Given the description of an element on the screen output the (x, y) to click on. 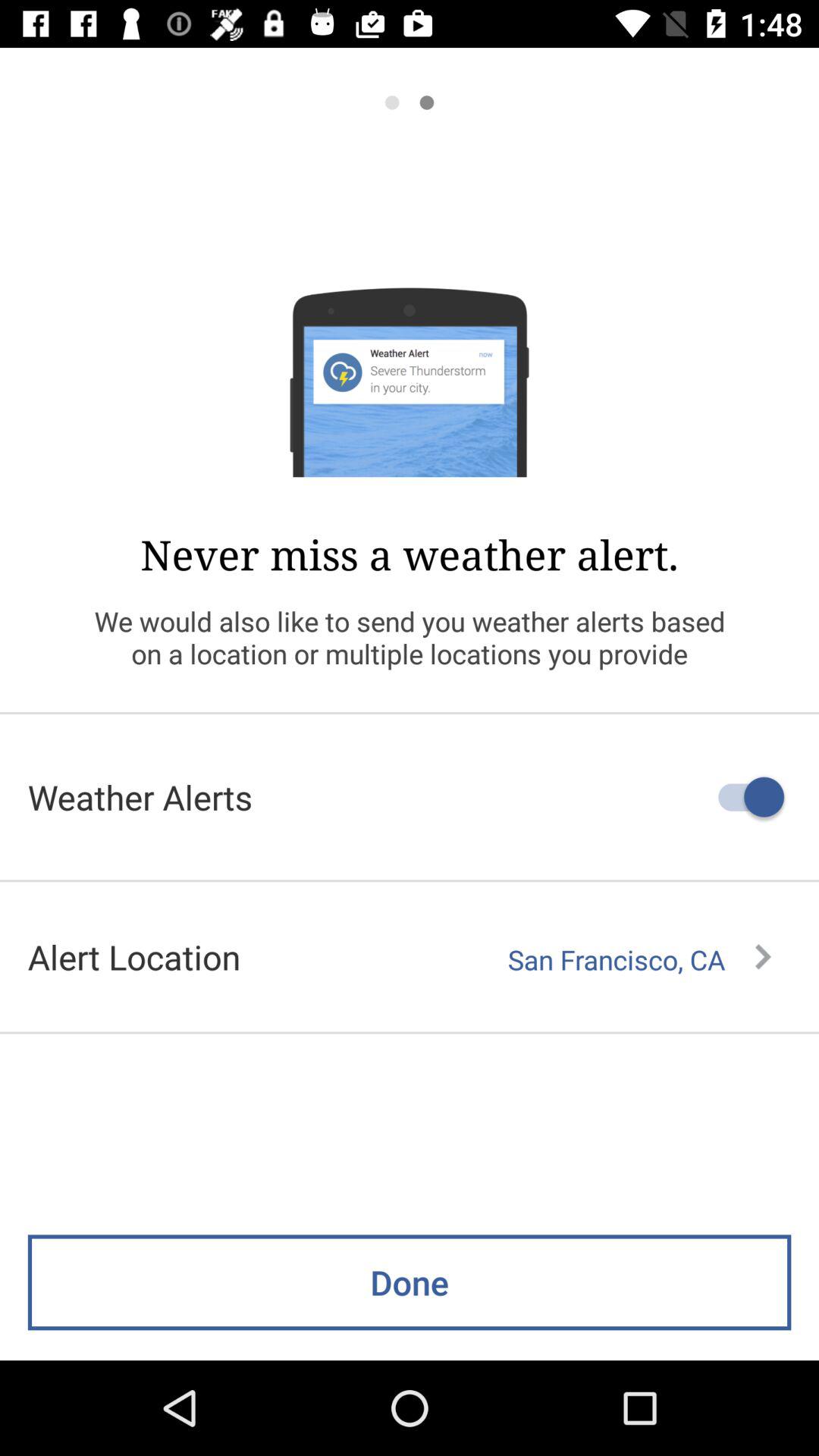
jump until the san francisco, ca item (639, 959)
